Given the description of an element on the screen output the (x, y) to click on. 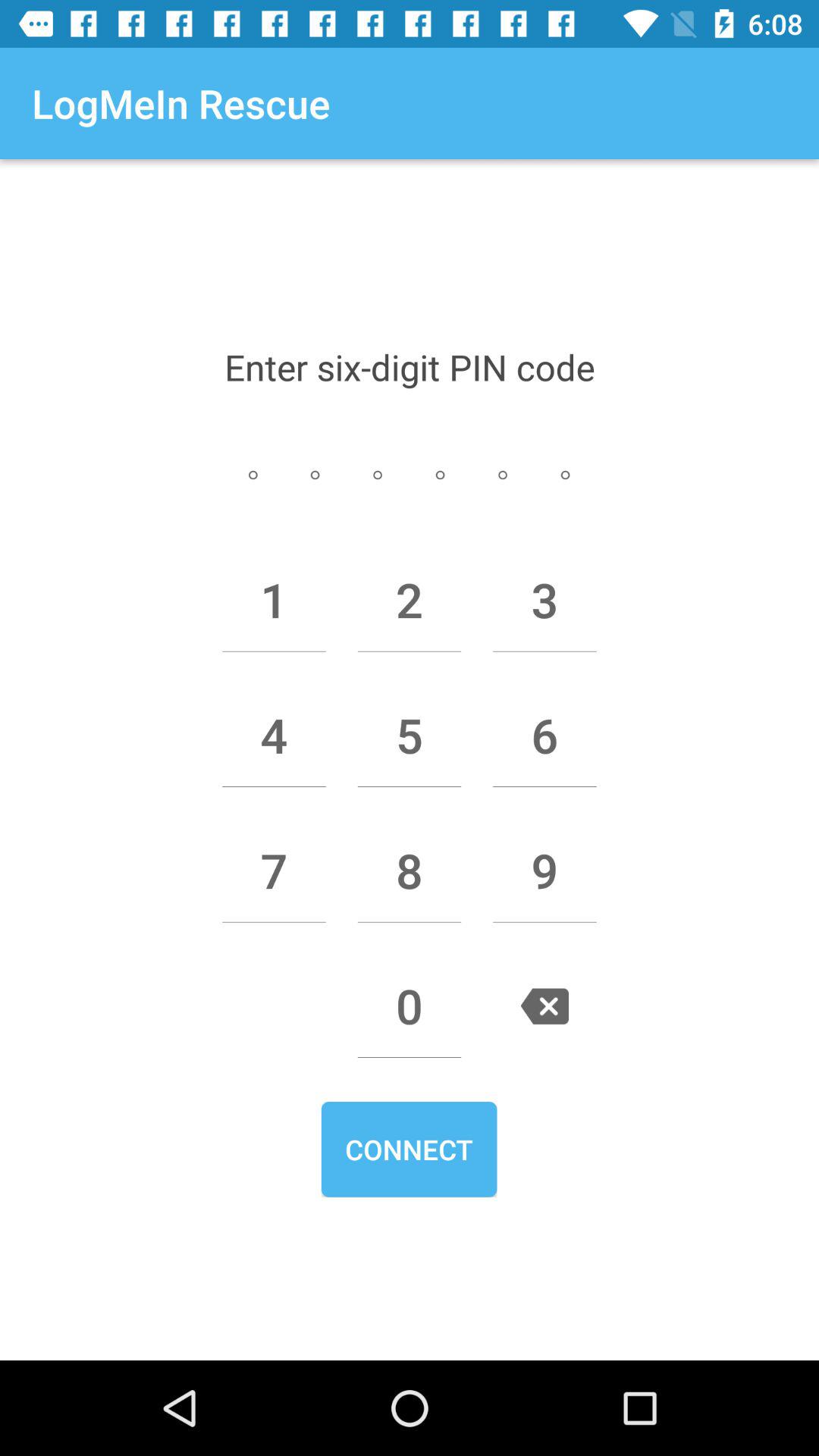
choose item next to the 8 (273, 870)
